Given the description of an element on the screen output the (x, y) to click on. 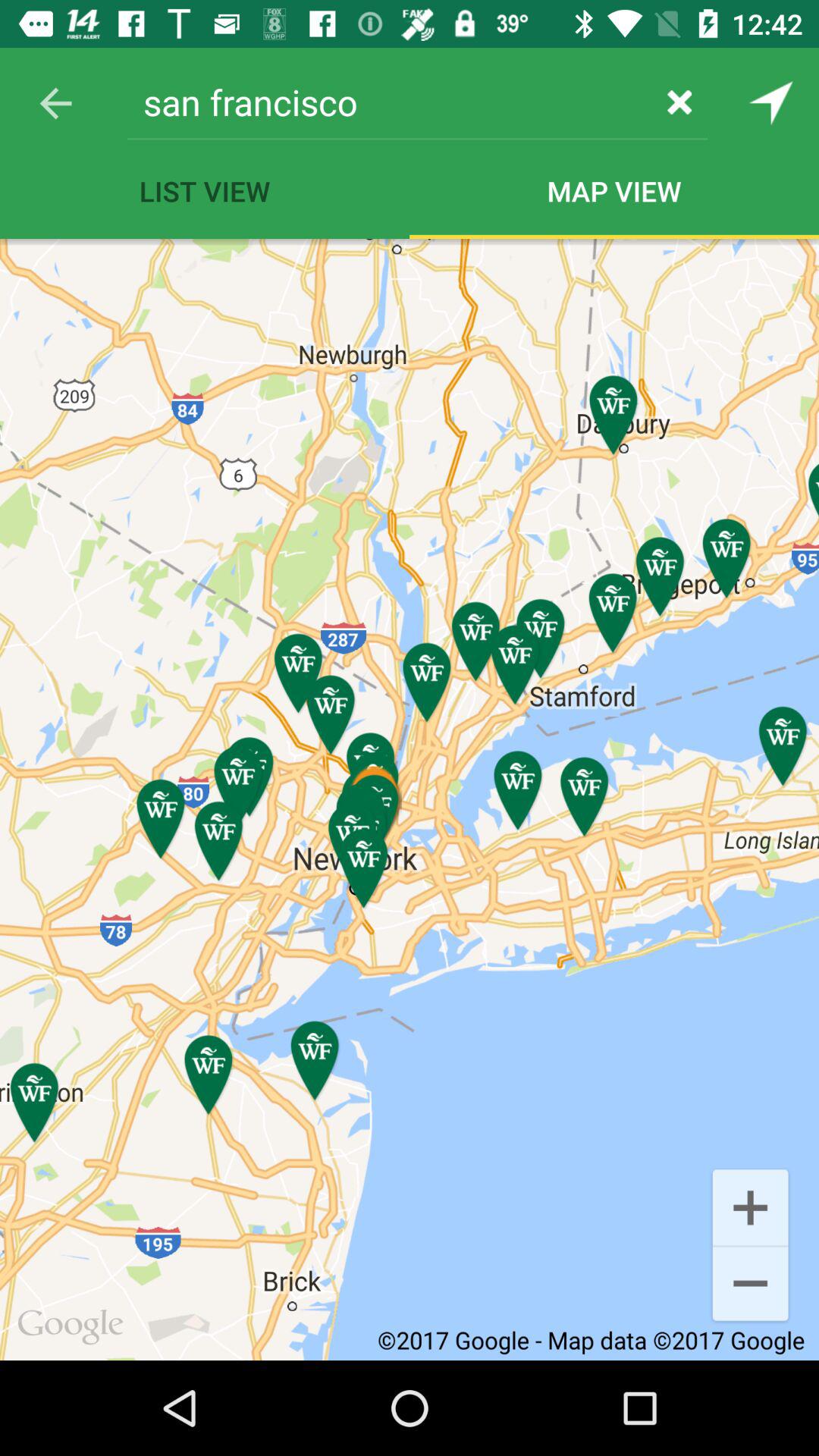
open the item next to san francisco item (679, 102)
